Given the description of an element on the screen output the (x, y) to click on. 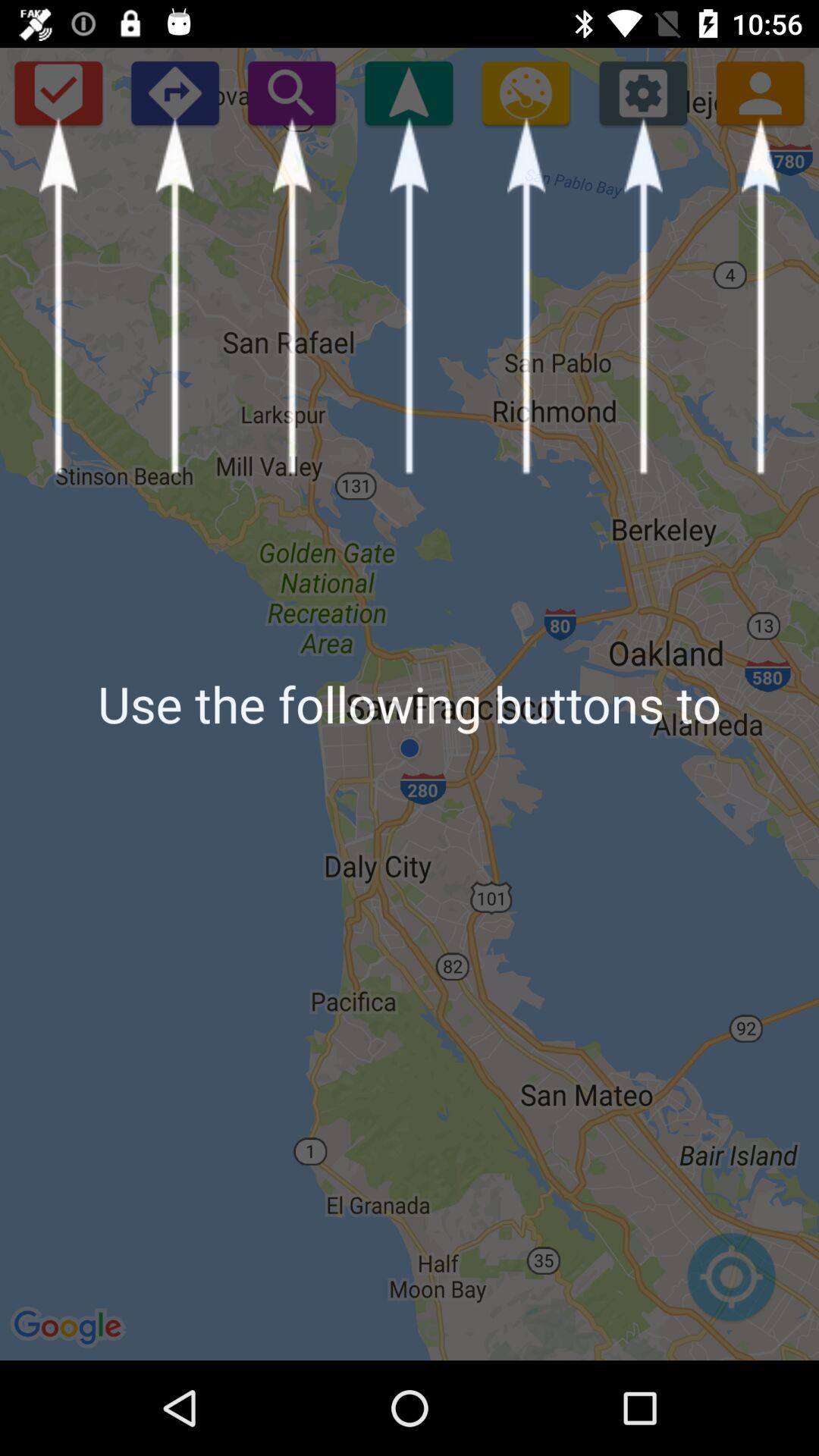
show people (760, 92)
